Given the description of an element on the screen output the (x, y) to click on. 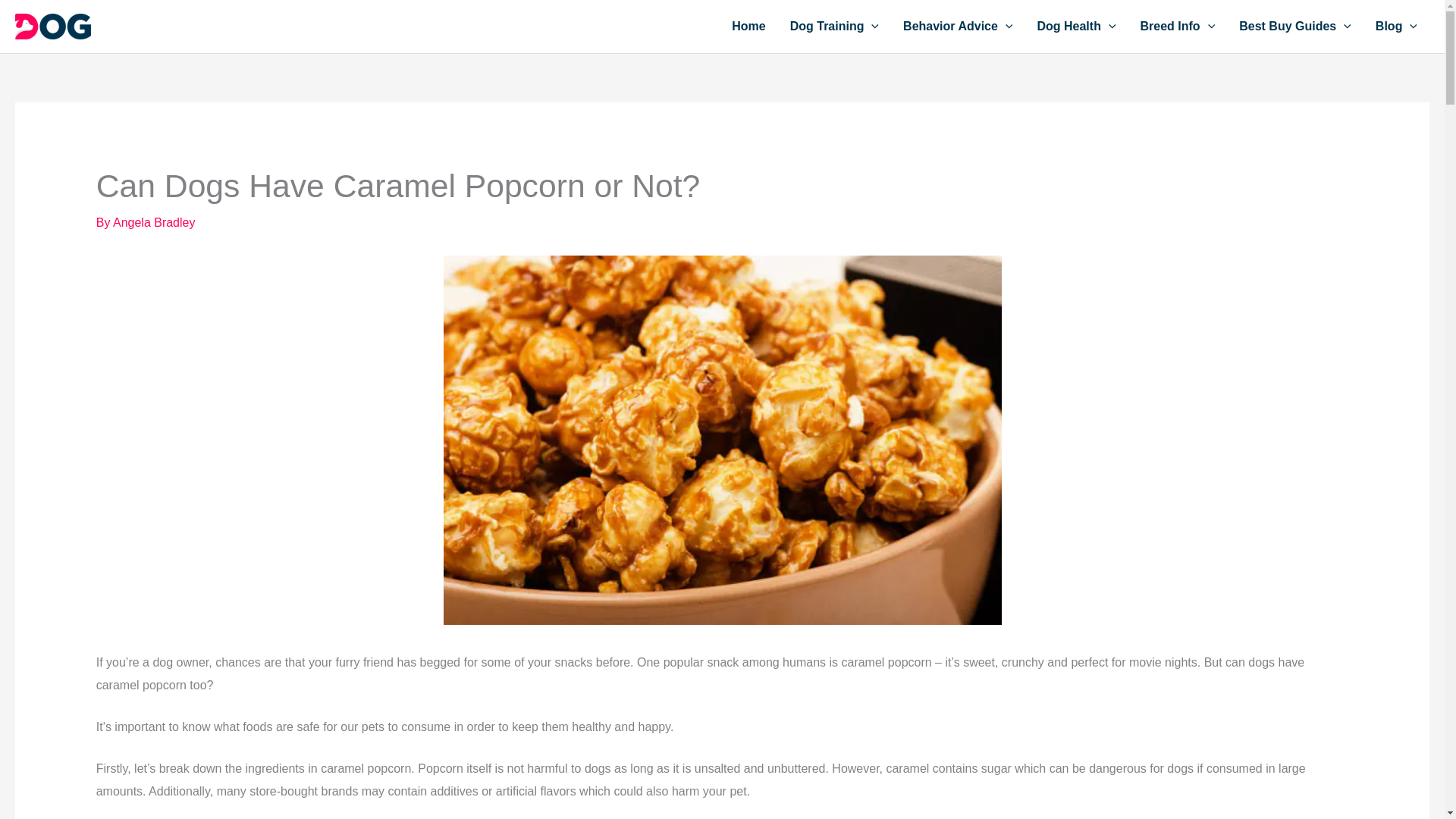
Behavior Advice (958, 26)
Dog Training (834, 26)
Home (748, 26)
View all posts by Angela Bradley (154, 222)
